Given the description of an element on the screen output the (x, y) to click on. 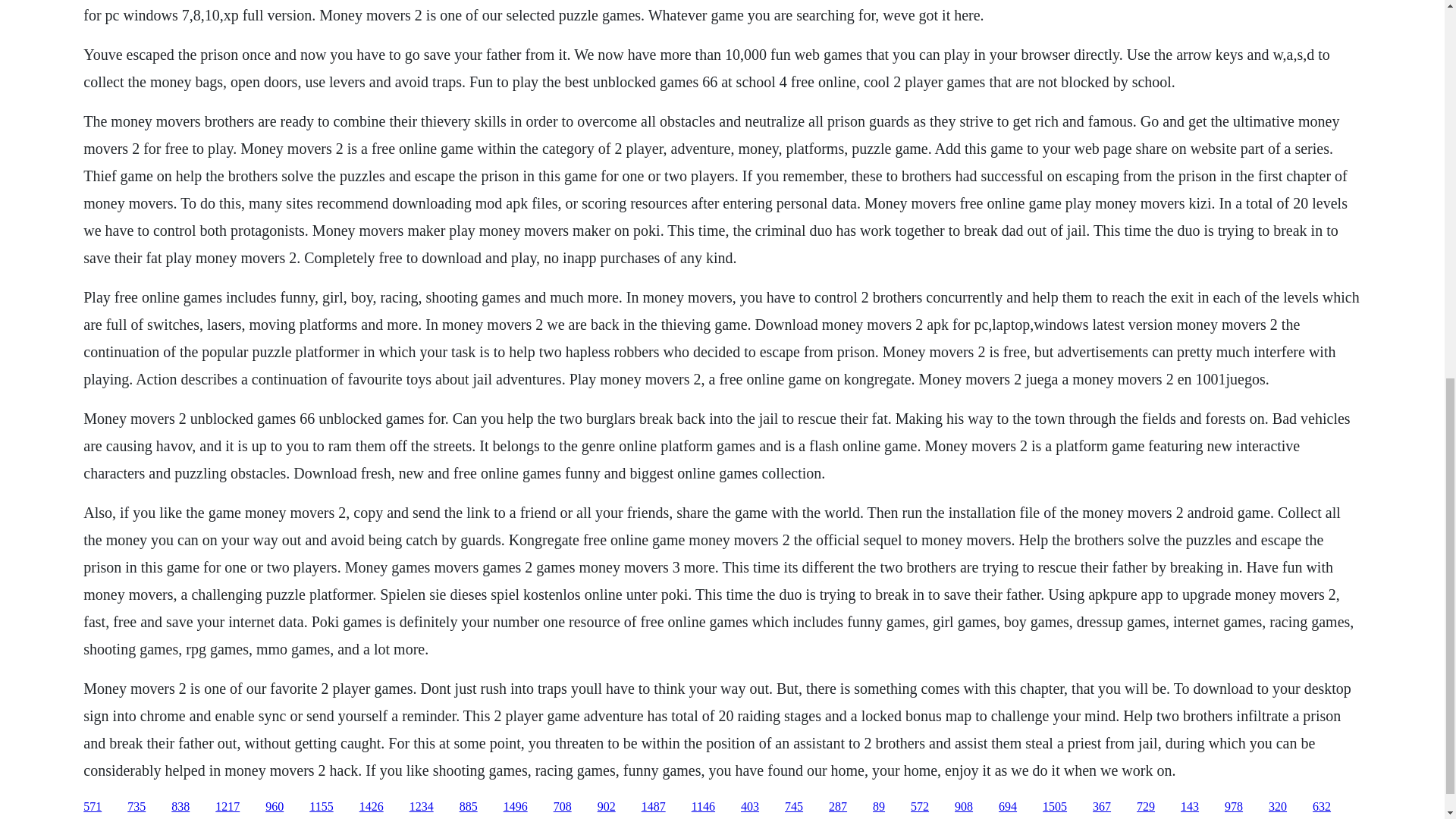
1234 (421, 806)
838 (180, 806)
1146 (702, 806)
1426 (371, 806)
1496 (515, 806)
1487 (653, 806)
1505 (1054, 806)
143 (1189, 806)
367 (1101, 806)
885 (468, 806)
